Given the description of an element on the screen output the (x, y) to click on. 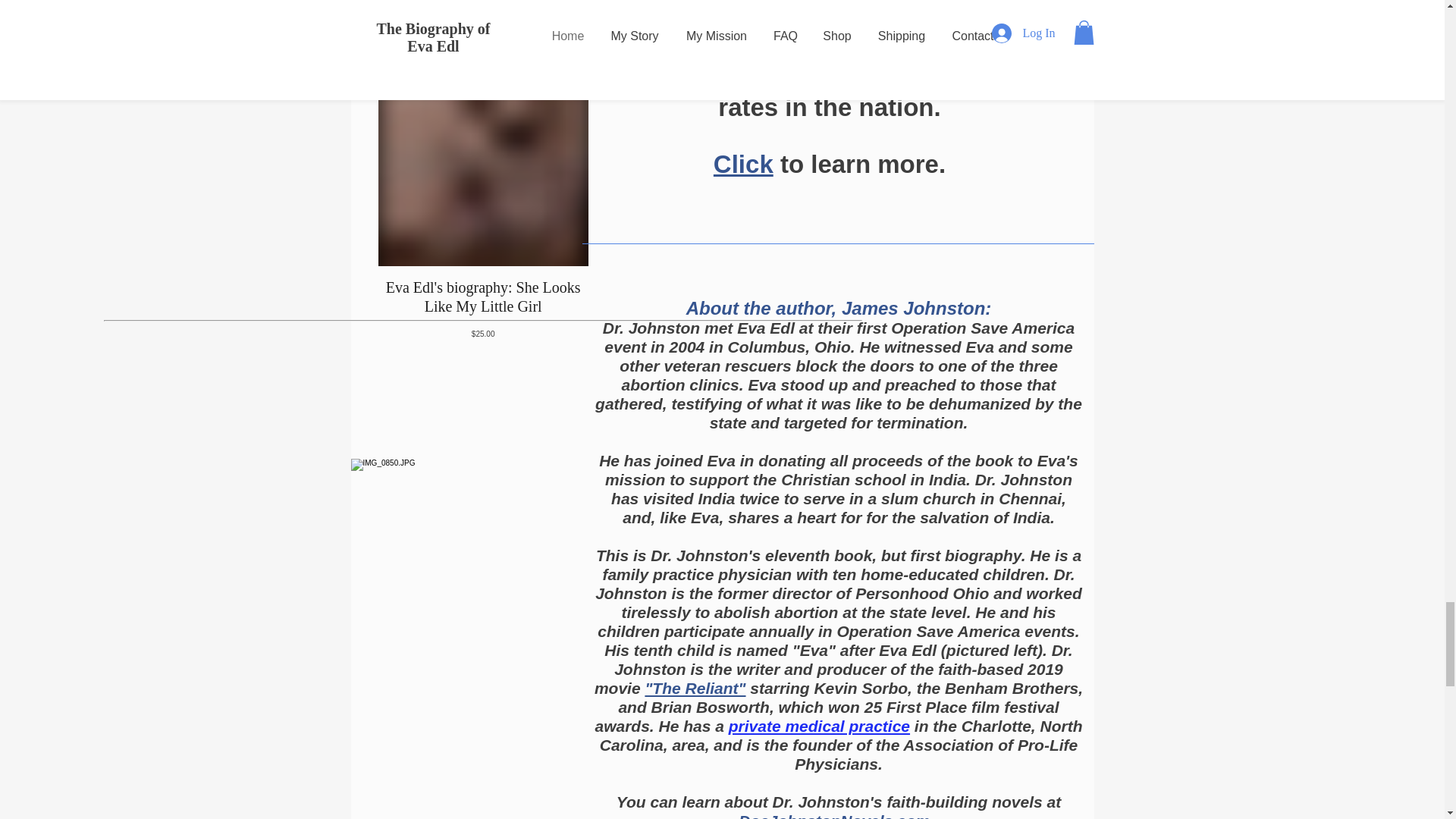
private medical practice (819, 725)
Click (743, 163)
"The Reliant" (697, 687)
DocJohnstonNovels.com (834, 815)
support a Christian school in Bihar, India (825, 34)
